Given the description of an element on the screen output the (x, y) to click on. 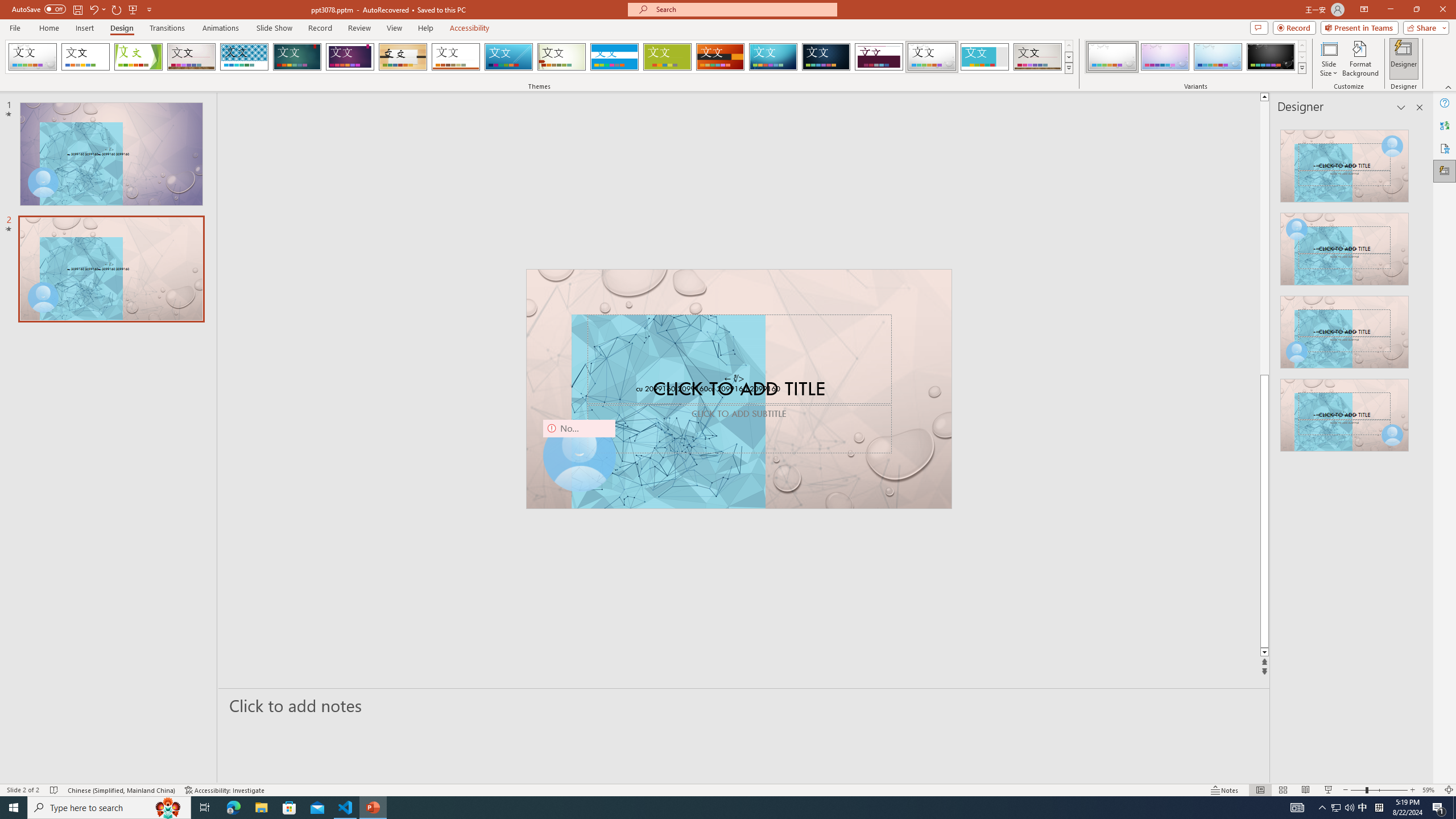
Office Theme (85, 56)
Ion Boardroom (350, 56)
Slide Size (1328, 58)
Camera 9, No camera detected. (578, 455)
Facet (138, 56)
Circuit (772, 56)
Berlin (720, 56)
